Given the description of an element on the screen output the (x, y) to click on. 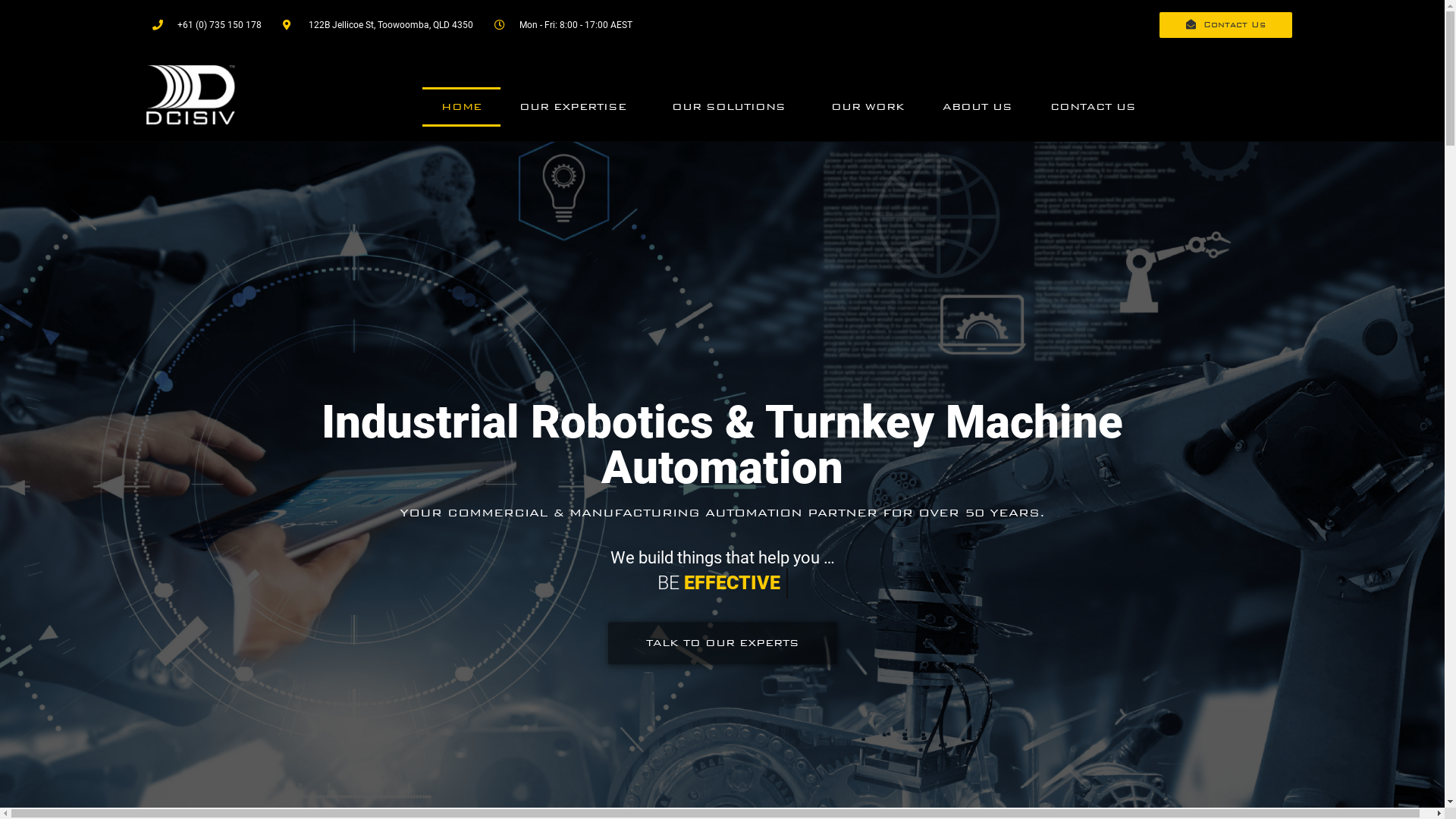
+61 (0) 735 150 178 Element type: text (206, 24)
ABOUT US Element type: text (977, 106)
HOME Element type: text (461, 106)
TALK TO OUR EXPERTS Element type: text (722, 642)
CONTACT US Element type: text (1092, 106)
OUR EXPERTISE Element type: text (576, 106)
OUR WORK Element type: text (867, 106)
122B Jellicoe St, Toowoomba, QLD 4350 Element type: text (377, 24)
OUR SOLUTIONS Element type: text (732, 106)
Contact Us Element type: text (1225, 24)
